Given the description of an element on the screen output the (x, y) to click on. 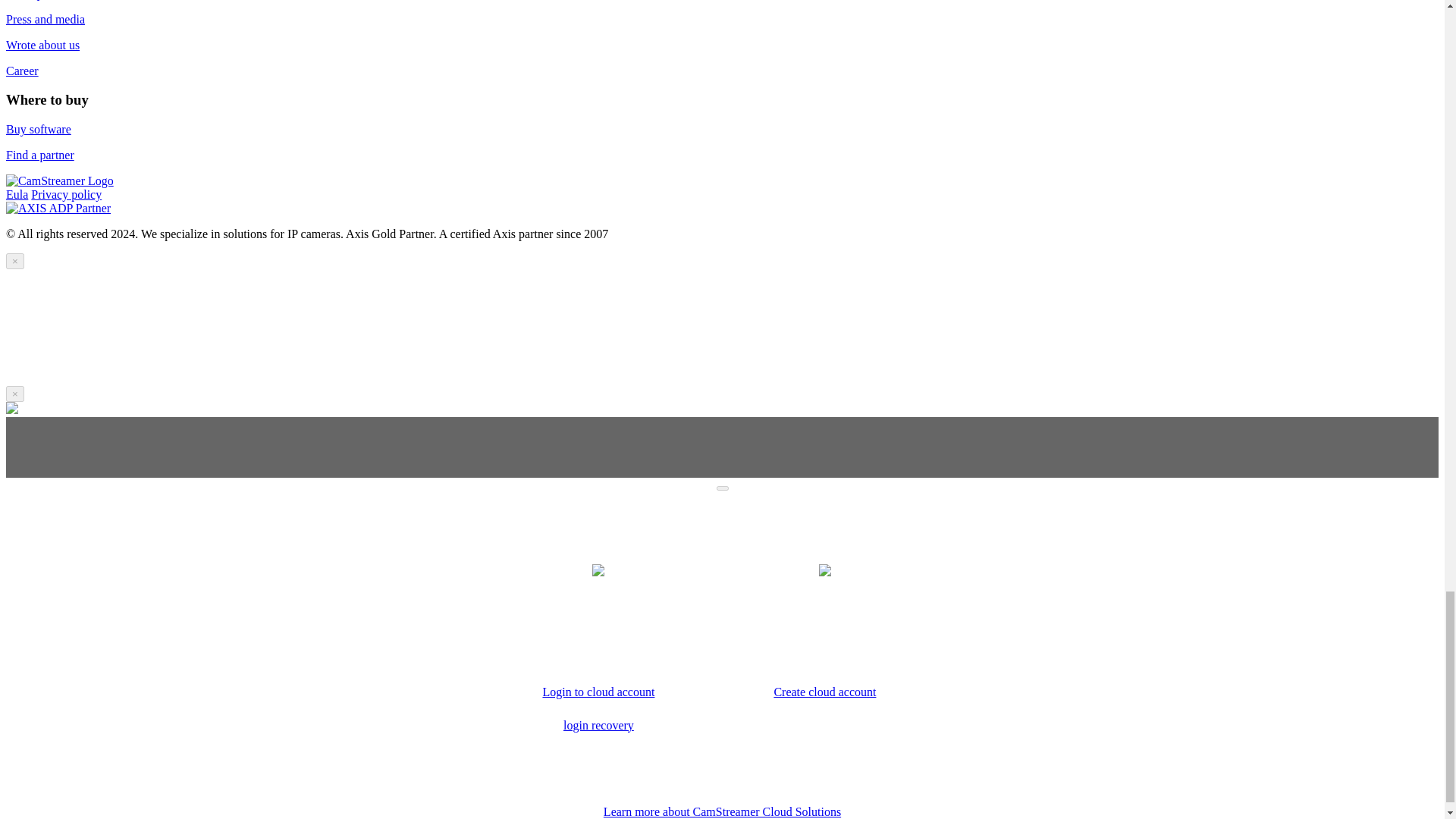
Login to cloud account (598, 692)
Create cloud account (825, 692)
